Given the description of an element on the screen output the (x, y) to click on. 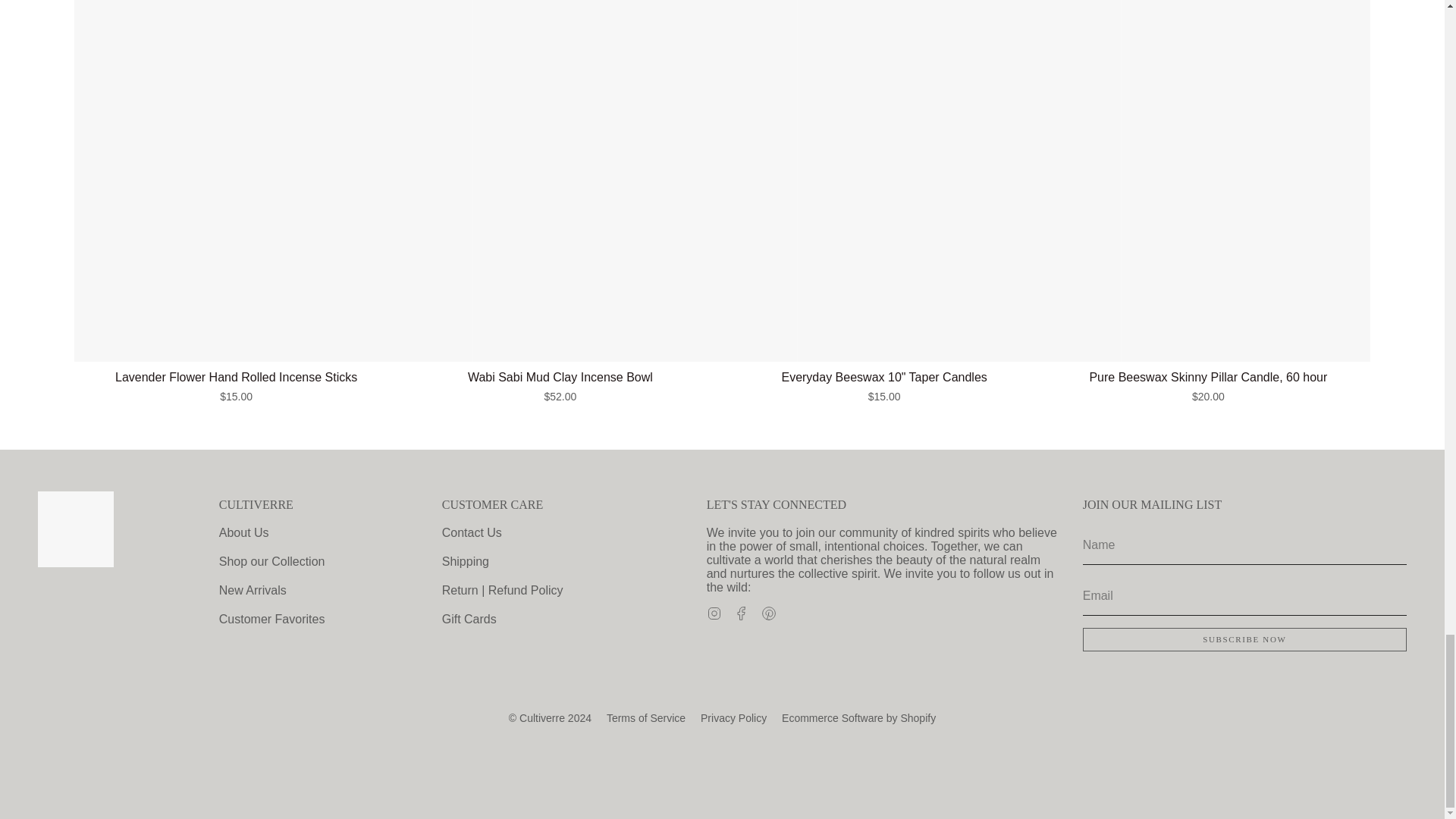
Cultiverre on Pinterest (768, 612)
Cultiverre on Instagram (714, 612)
Cultiverre on Facebook (741, 612)
